Given the description of an element on the screen output the (x, y) to click on. 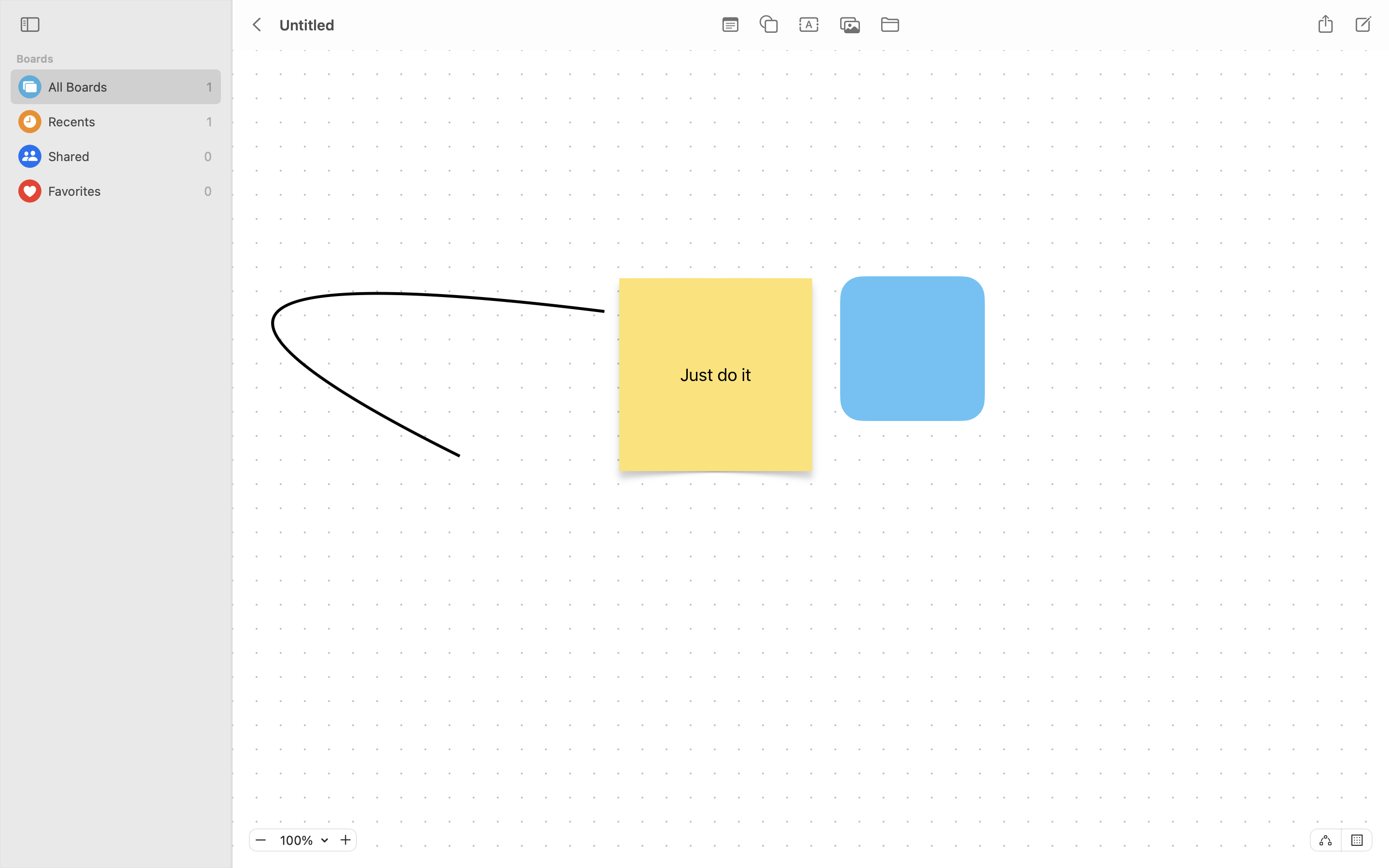
All Boards Element type: AXStaticText (124, 86)
Untitled Element type: AXStaticText (305, 24)
On Element type: AXButton (1356, 839)
Off Element type: AXButton (1324, 839)
